Given the description of an element on the screen output the (x, y) to click on. 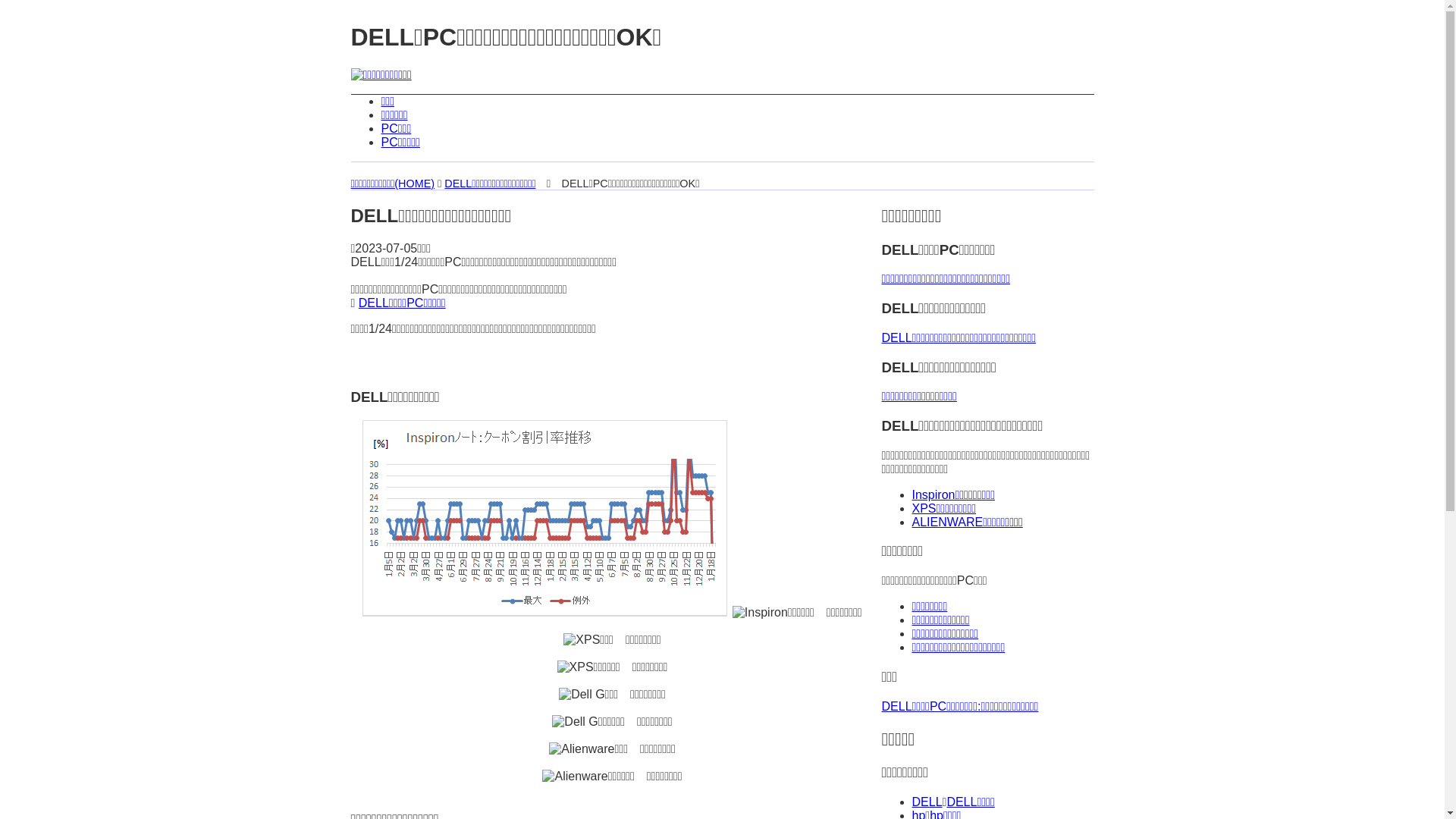
DELL Element type: text (926, 801)
